Given the description of an element on the screen output the (x, y) to click on. 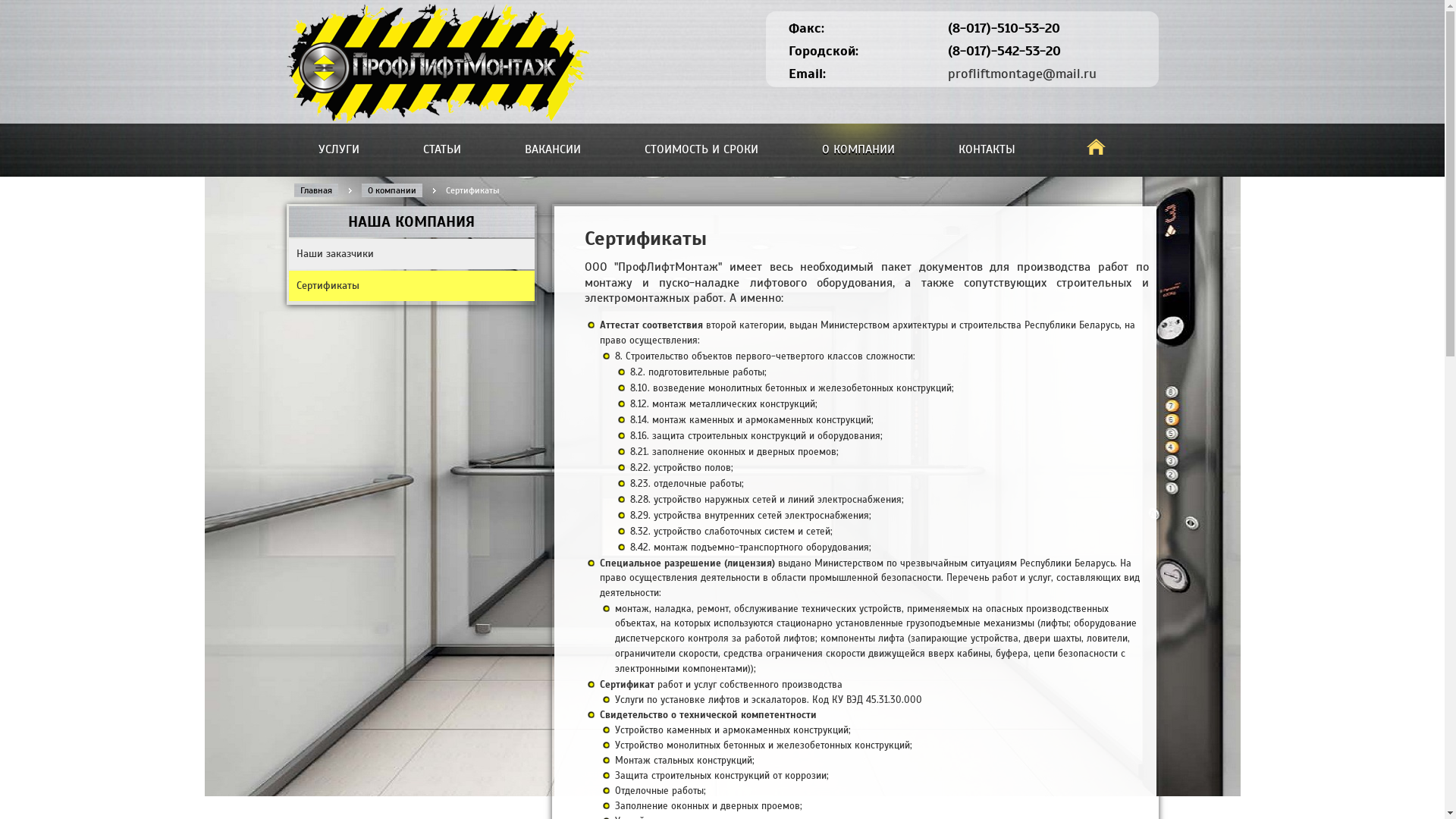
profliftmontage@mail.ru Element type: text (1021, 73)
